Given the description of an element on the screen output the (x, y) to click on. 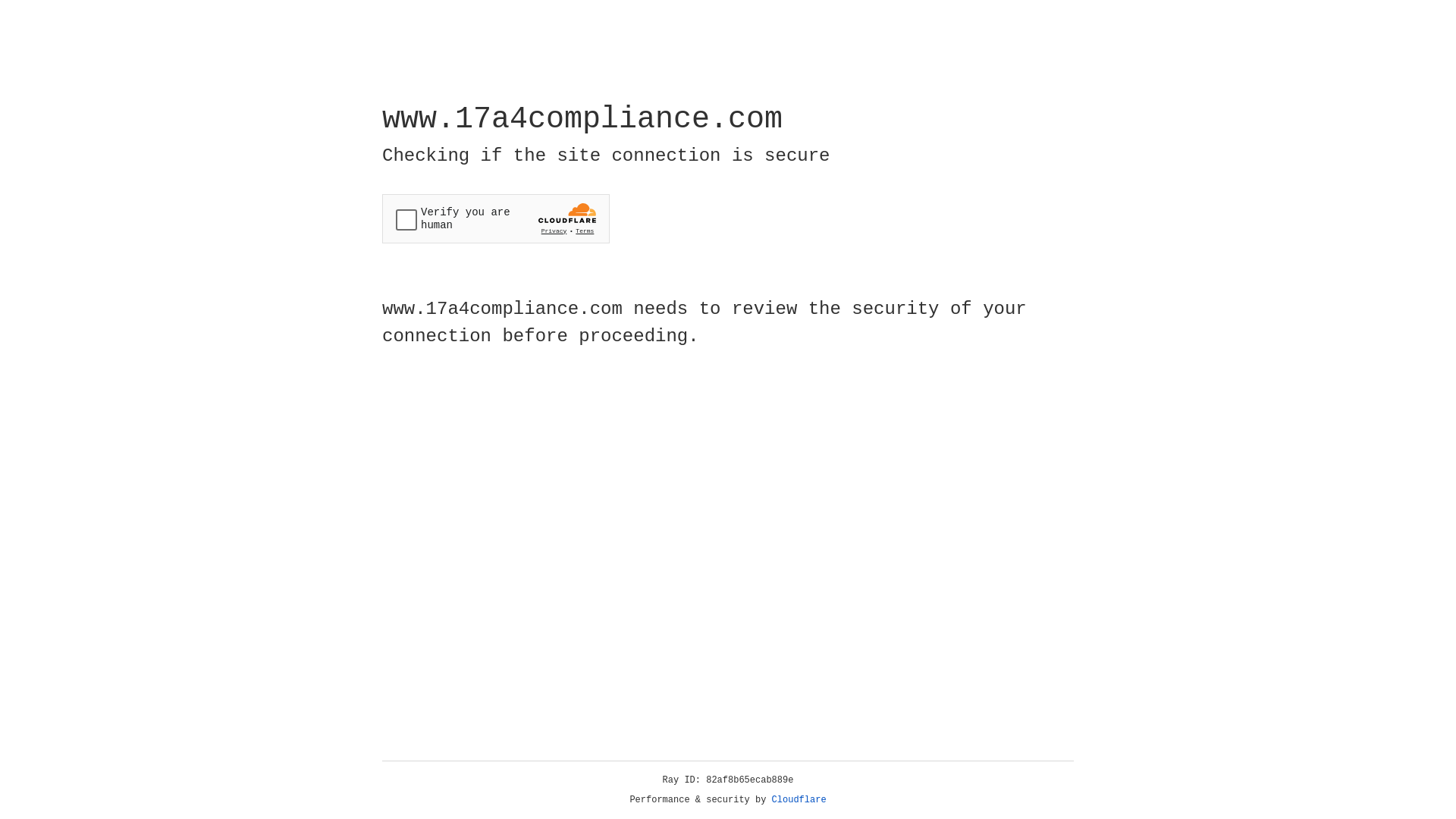
Widget containing a Cloudflare security challenge Element type: hover (495, 218)
Cloudflare Element type: text (798, 799)
